Given the description of an element on the screen output the (x, y) to click on. 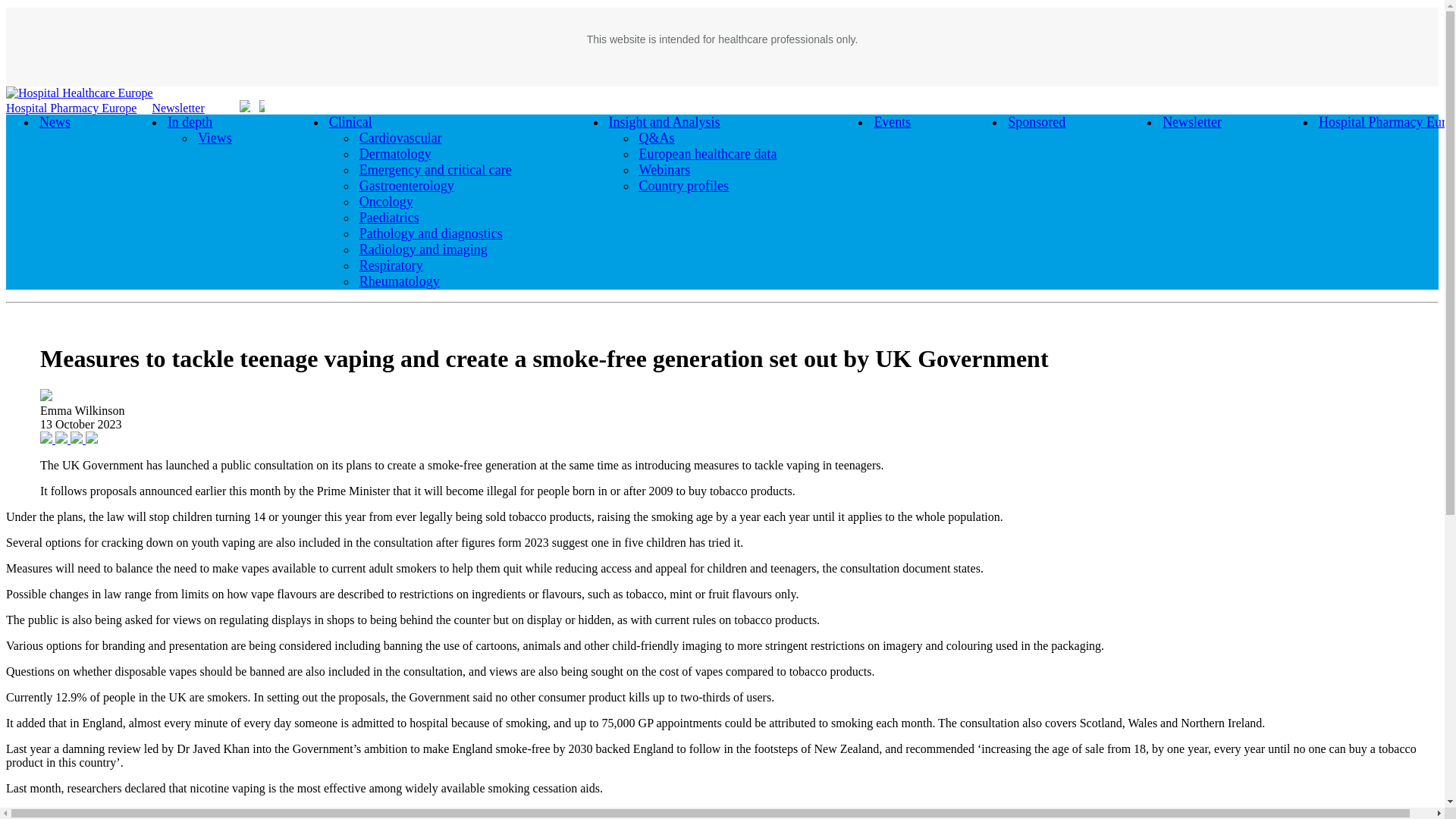
European healthcare data (708, 153)
Events (892, 121)
Cardiovascular (400, 137)
Respiratory (391, 265)
Country profiles (684, 185)
Pathology and diagnostics (430, 233)
News (55, 121)
Sponsored (1036, 121)
Gastroenterology (406, 185)
Dermatology (394, 153)
